Given the description of an element on the screen output the (x, y) to click on. 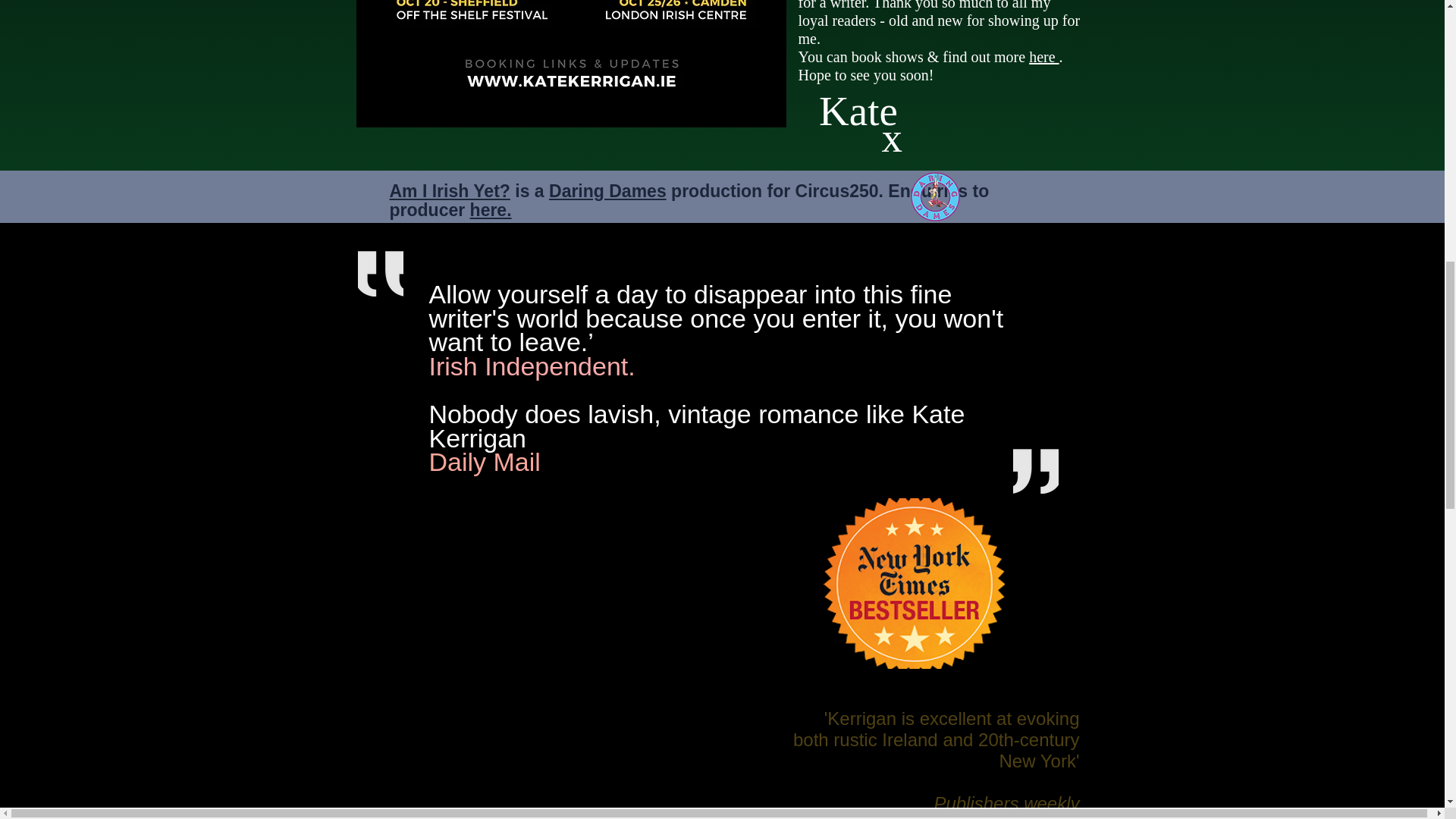
Am I Irish Yet? (450, 190)
here. (491, 209)
Instagram Feed (1220, 26)
Daring Dames (607, 190)
here  (1043, 56)
am i irish yet.jpg (571, 63)
